Given the description of an element on the screen output the (x, y) to click on. 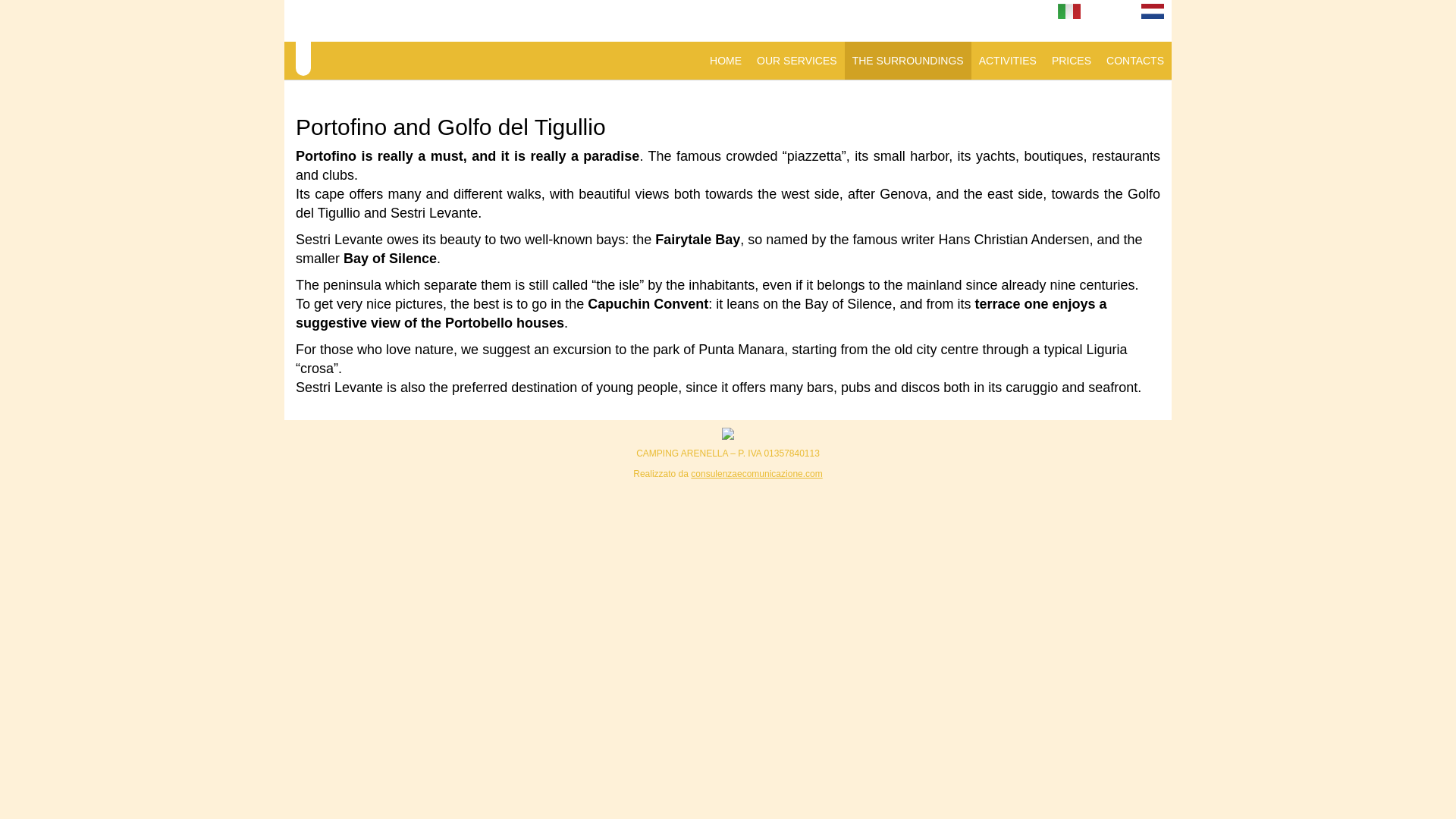
THE SURROUNDINGS (907, 60)
OUR SERVICES (796, 60)
PRICES (1071, 60)
HOME (725, 60)
ACTIVITIES (1007, 60)
consulenzaecomunicazione.com (756, 473)
CONTACTS (1135, 60)
